Given the description of an element on the screen output the (x, y) to click on. 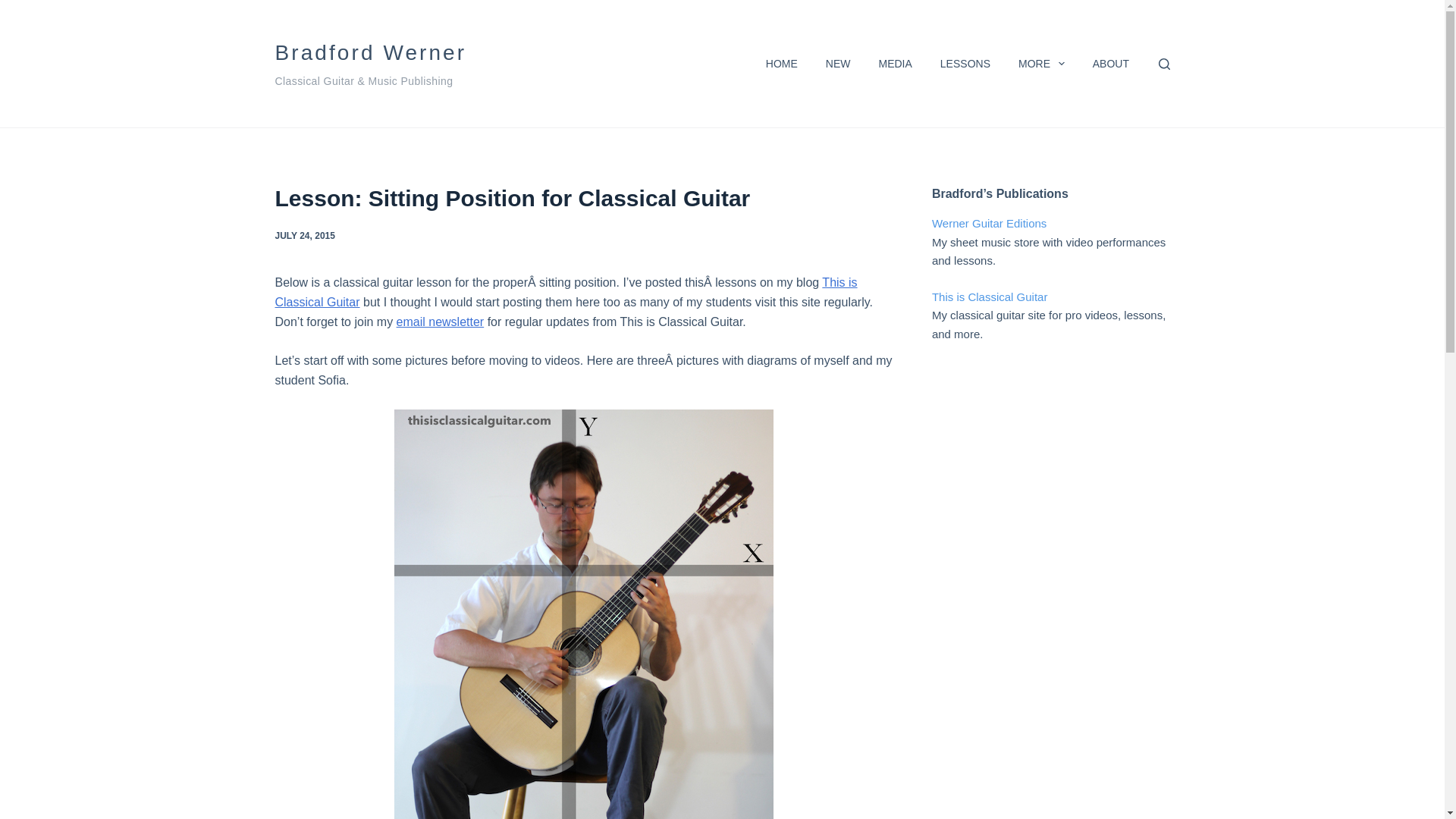
Lesson: Sitting Position for Classical Guitar (583, 197)
Bradford Werner (370, 52)
email newsletter (440, 321)
Skip to content (15, 7)
This is Classical Guitar (566, 292)
